Given the description of an element on the screen output the (x, y) to click on. 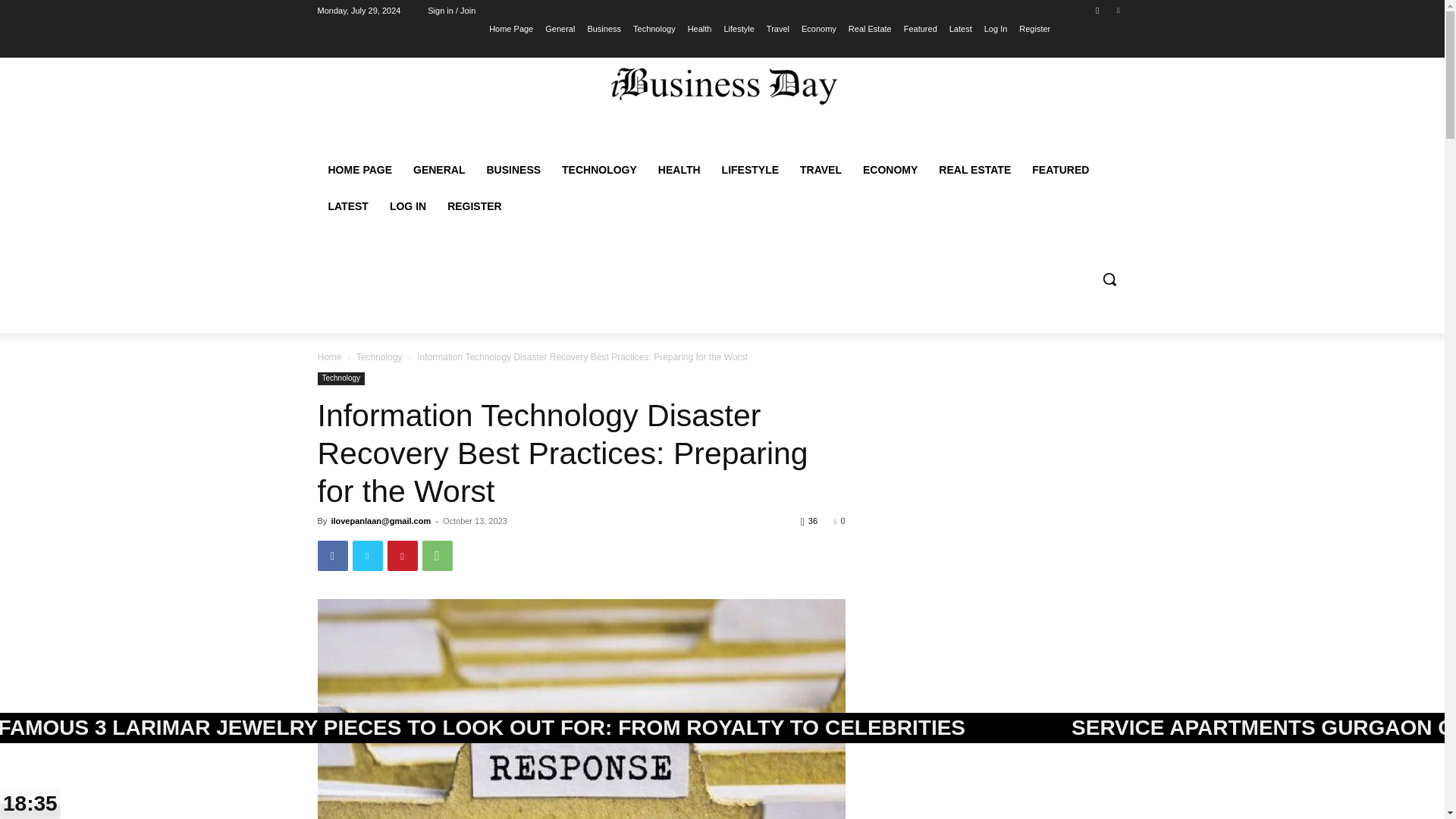
Home Page (510, 28)
Lifestyle (738, 28)
Pinterest (401, 555)
Technology (654, 28)
Twitter (366, 555)
Featured (920, 28)
Log In (995, 28)
Facebook (1097, 9)
Twitter (1117, 9)
Economy (818, 28)
Facebook (332, 555)
WhatsApp (436, 555)
Health (699, 28)
Travel (778, 28)
Latest (960, 28)
